Given the description of an element on the screen output the (x, y) to click on. 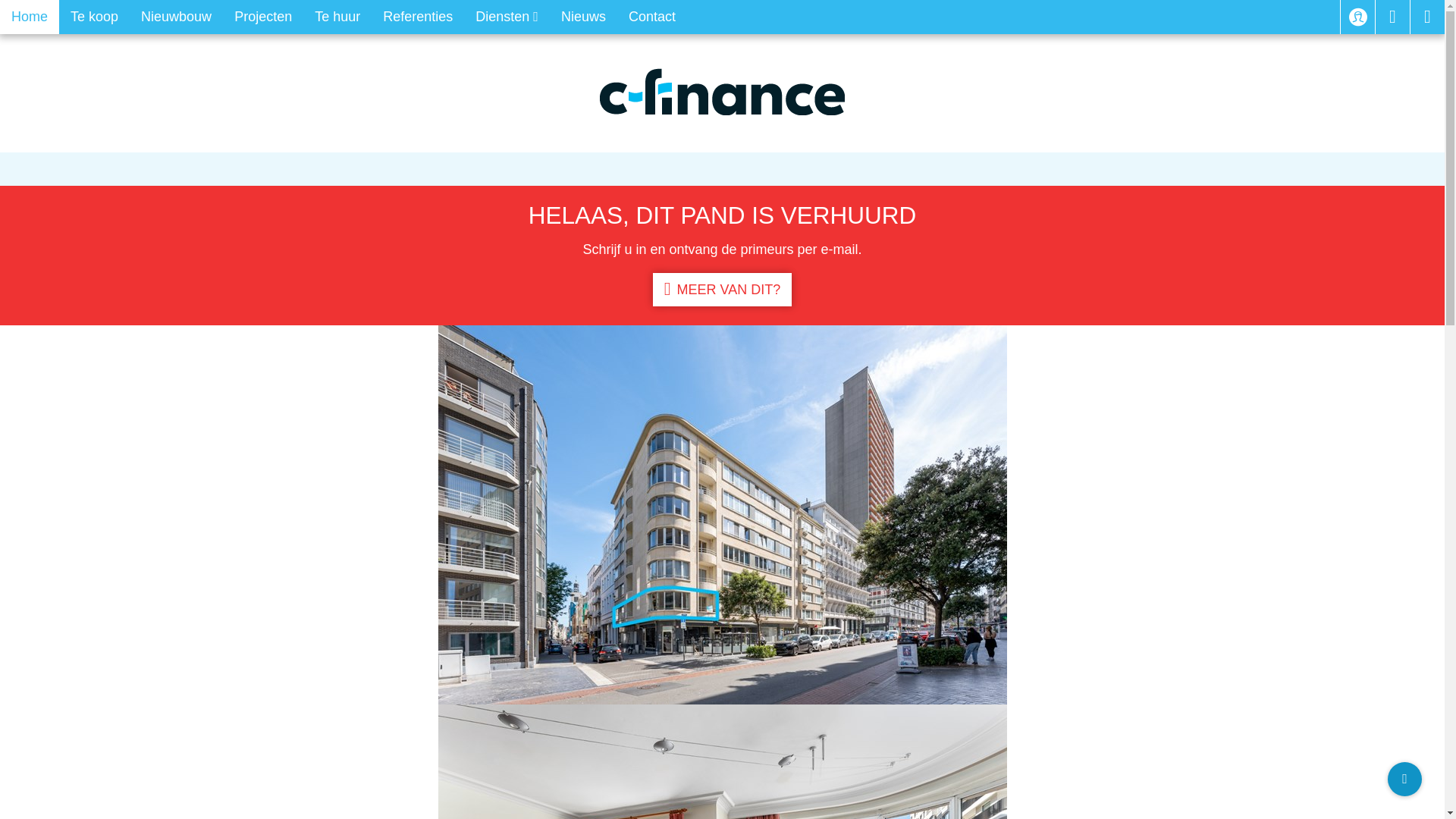
Nieuwbouw Element type: text (175, 17)
Referenties Element type: text (417, 17)
Nieuws Element type: text (583, 17)
Go to top Element type: hover (1404, 779)
Link homepage Element type: hover (721, 91)
Home Element type: text (29, 17)
Te huur Element type: text (337, 17)
Diensten Element type: text (506, 17)
MEER VAN DIT? Element type: text (721, 289)
Eigenaarslogin Element type: hover (1357, 17)
Contact Element type: text (652, 17)
Te koop Element type: text (94, 17)
Projecten Element type: text (262, 17)
